Given the description of an element on the screen output the (x, y) to click on. 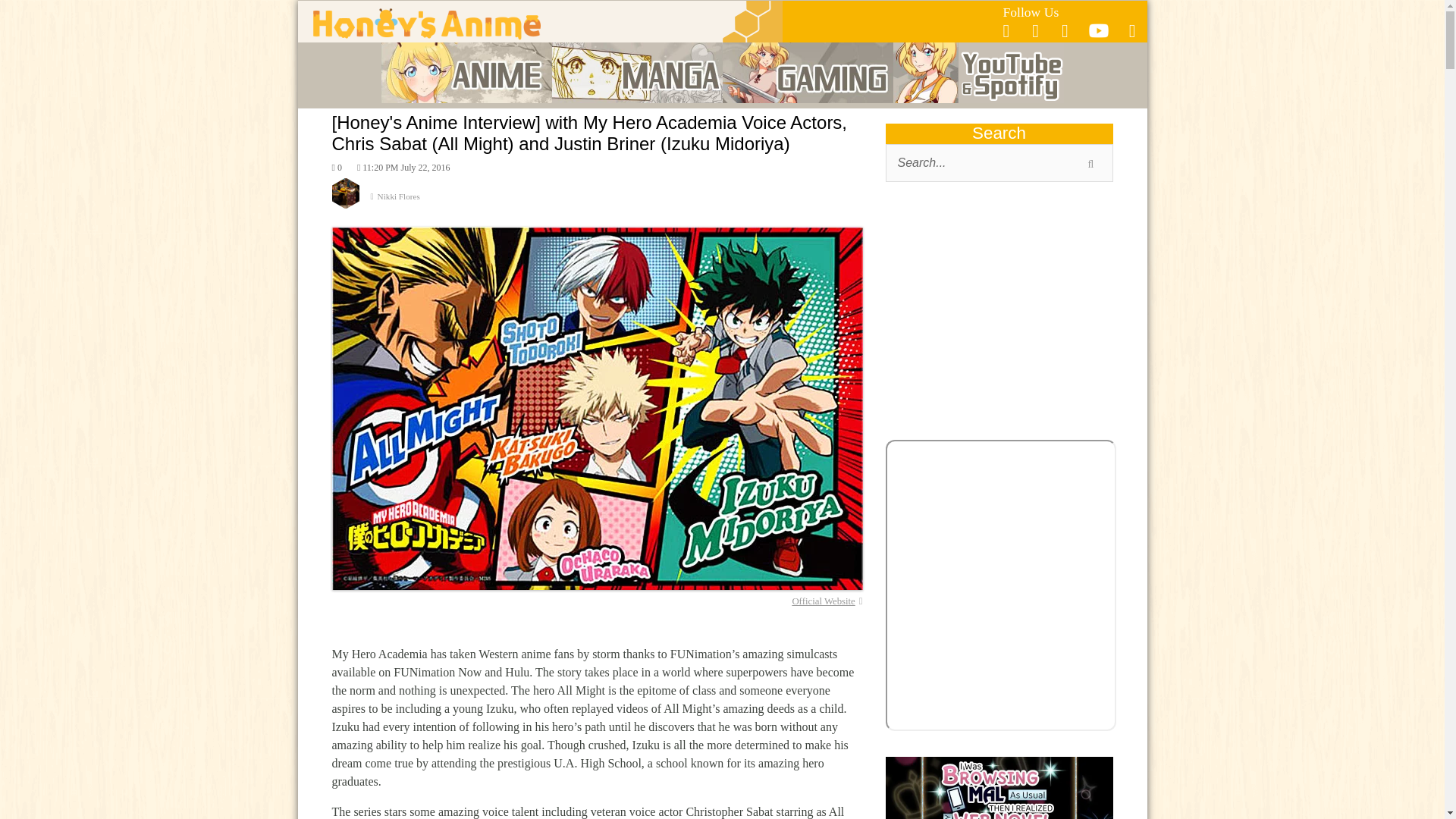
Our Youtube (1098, 35)
Search... (999, 162)
Nikki Flores (597, 202)
Search... (999, 162)
Advertisement (999, 313)
Official Website (826, 601)
banner-honeyfeed-malcontest (999, 787)
